Given the description of an element on the screen output the (x, y) to click on. 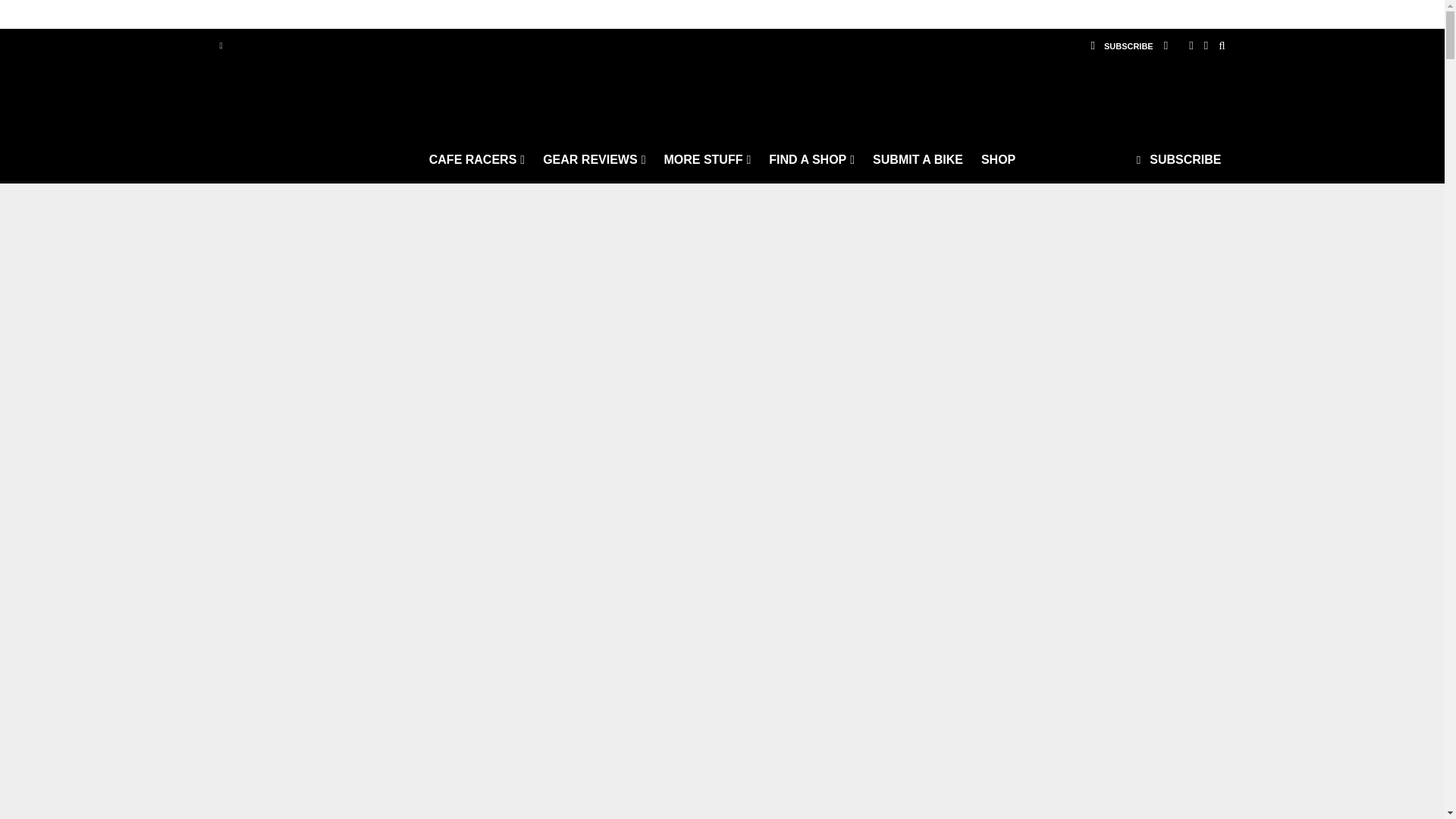
SUBSCRIBE (1120, 45)
CAFE RACERS (477, 159)
